Given the description of an element on the screen output the (x, y) to click on. 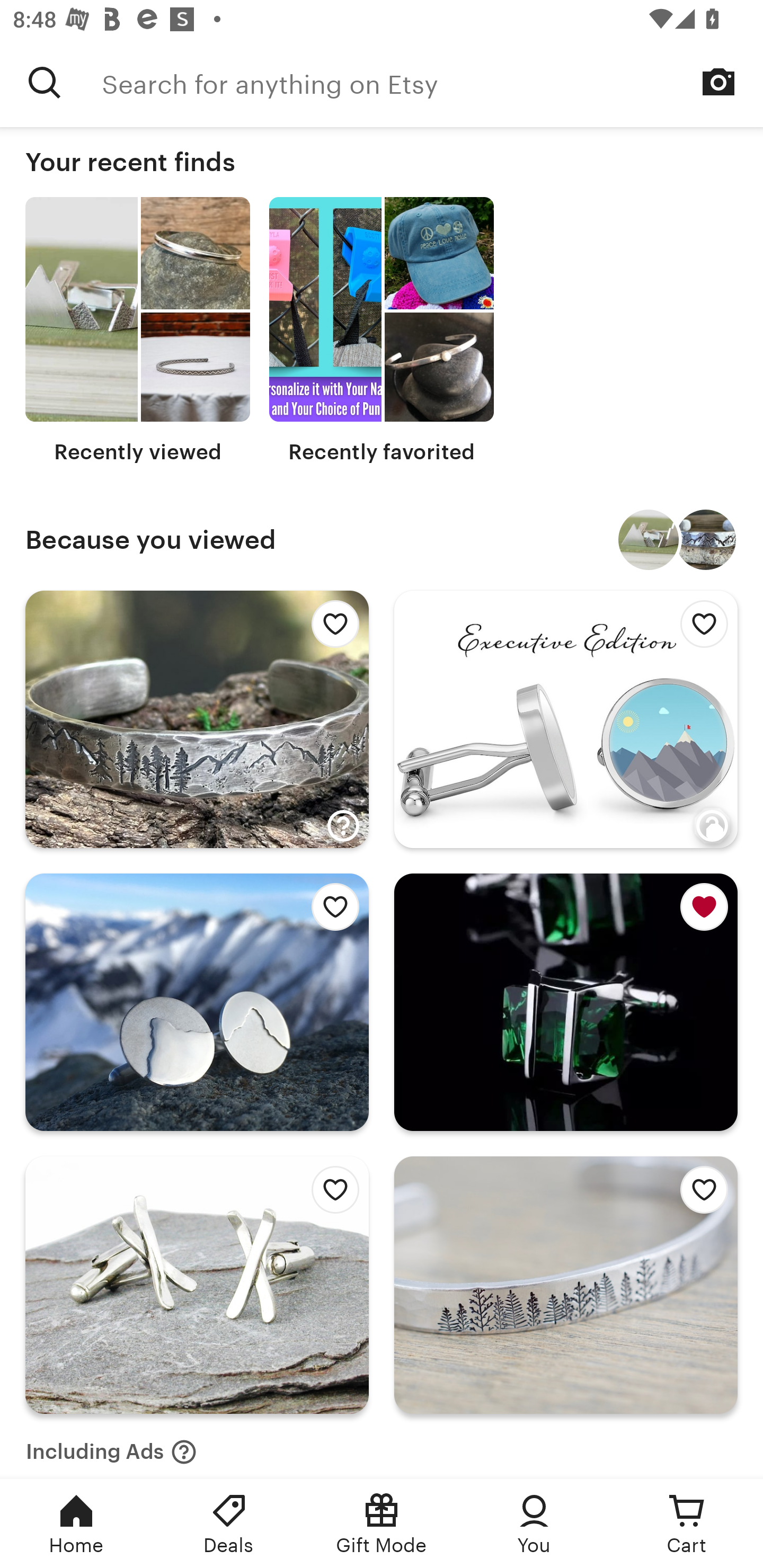
Search for anything on Etsy (44, 82)
Search by image (718, 81)
Search for anything on Etsy (432, 82)
Recently viewed (137, 330)
Recently favorited (381, 330)
Including Ads (111, 1446)
Deals (228, 1523)
Gift Mode (381, 1523)
You (533, 1523)
Cart (686, 1523)
